Given the description of an element on the screen output the (x, y) to click on. 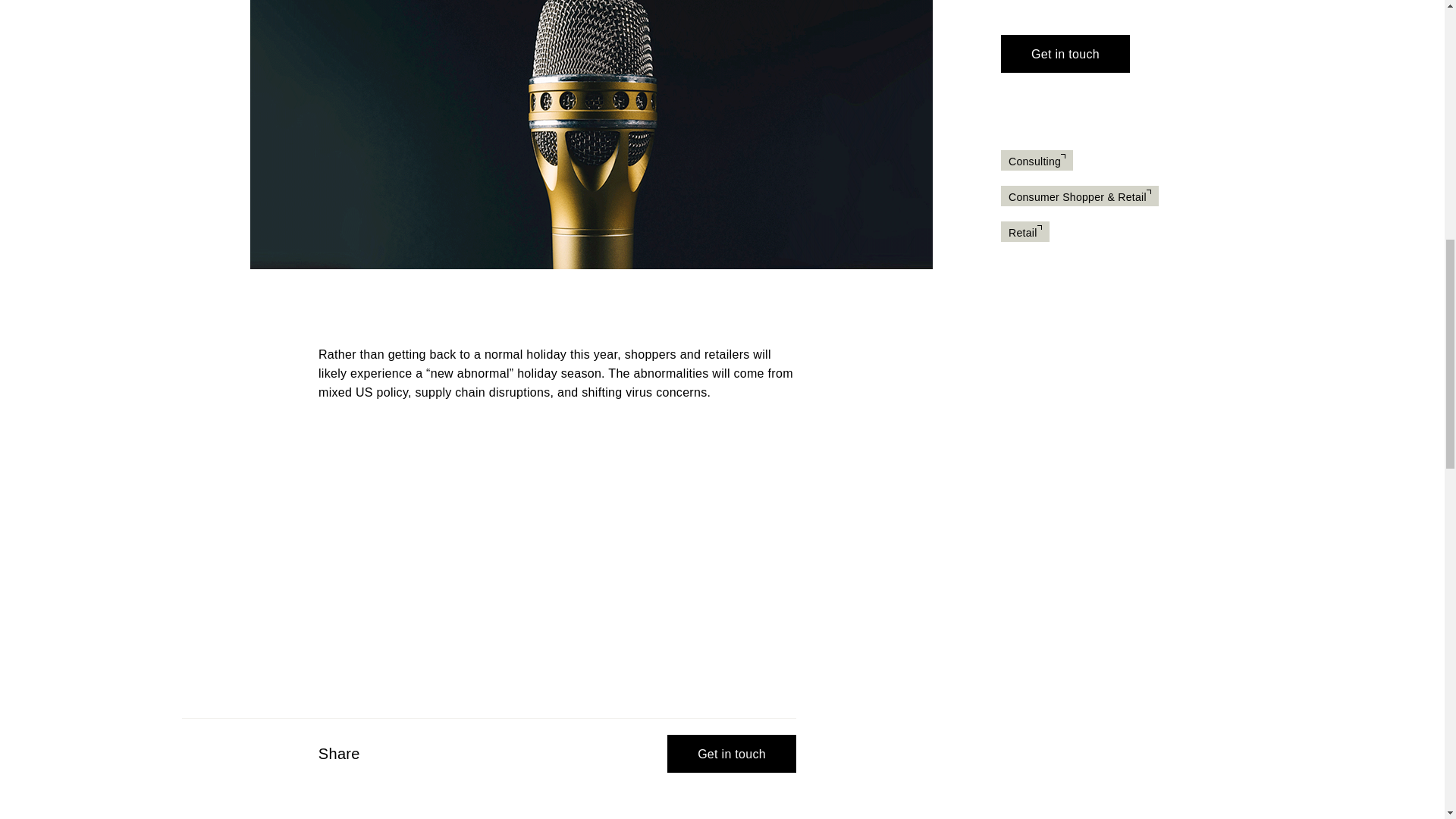
Consulting (1037, 161)
Libsyn Player (557, 538)
Consumer Shopper Retail (1080, 196)
Retail (1025, 232)
